Given the description of an element on the screen output the (x, y) to click on. 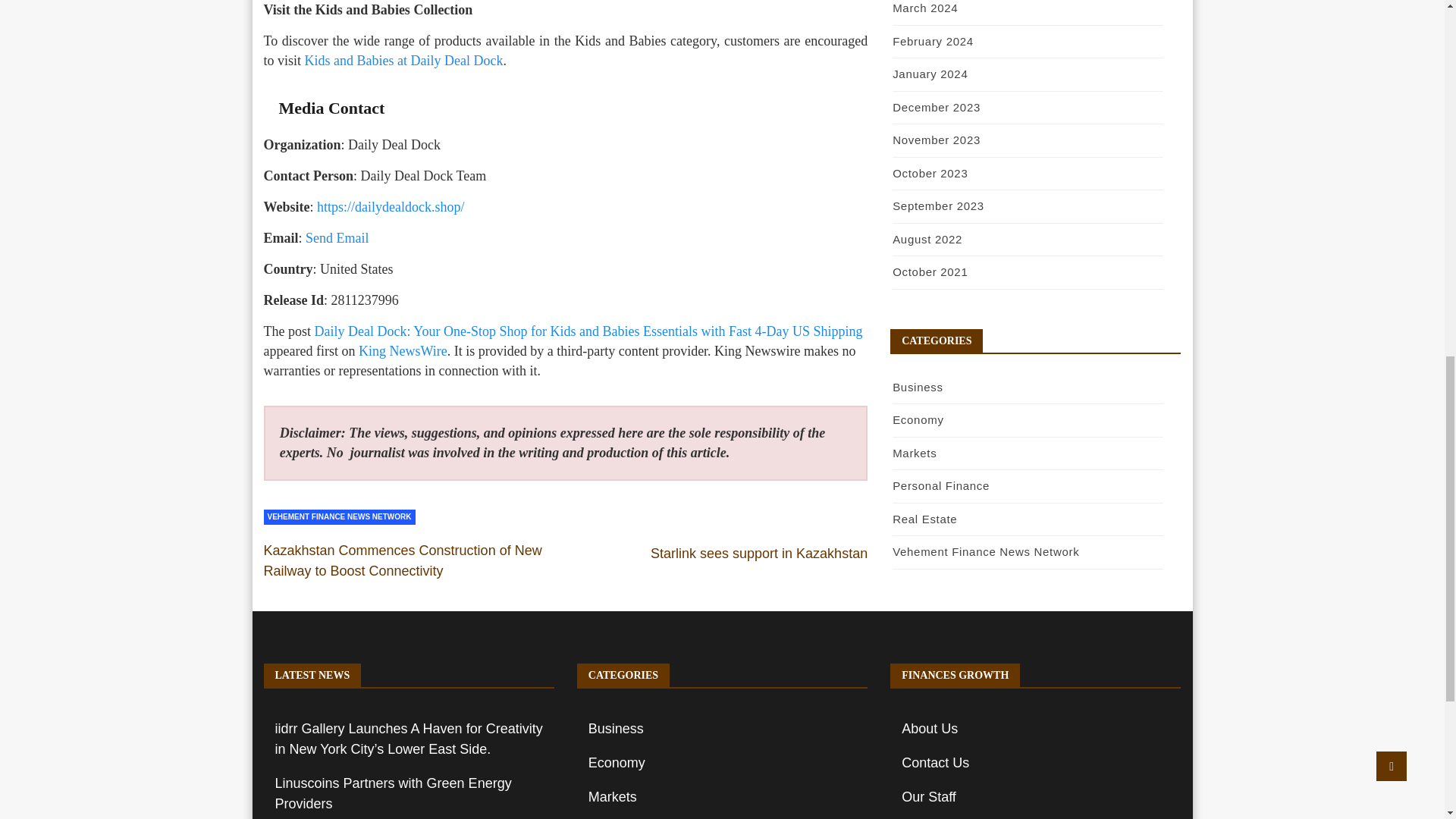
King NewsWire (402, 350)
Send Email (337, 237)
VEHEMENT FINANCE NEWS NETWORK (338, 516)
Starlink sees support in Kazakhstan (758, 553)
 Kids and Babies at Daily Deal Dock (401, 60)
